Given the description of an element on the screen output the (x, y) to click on. 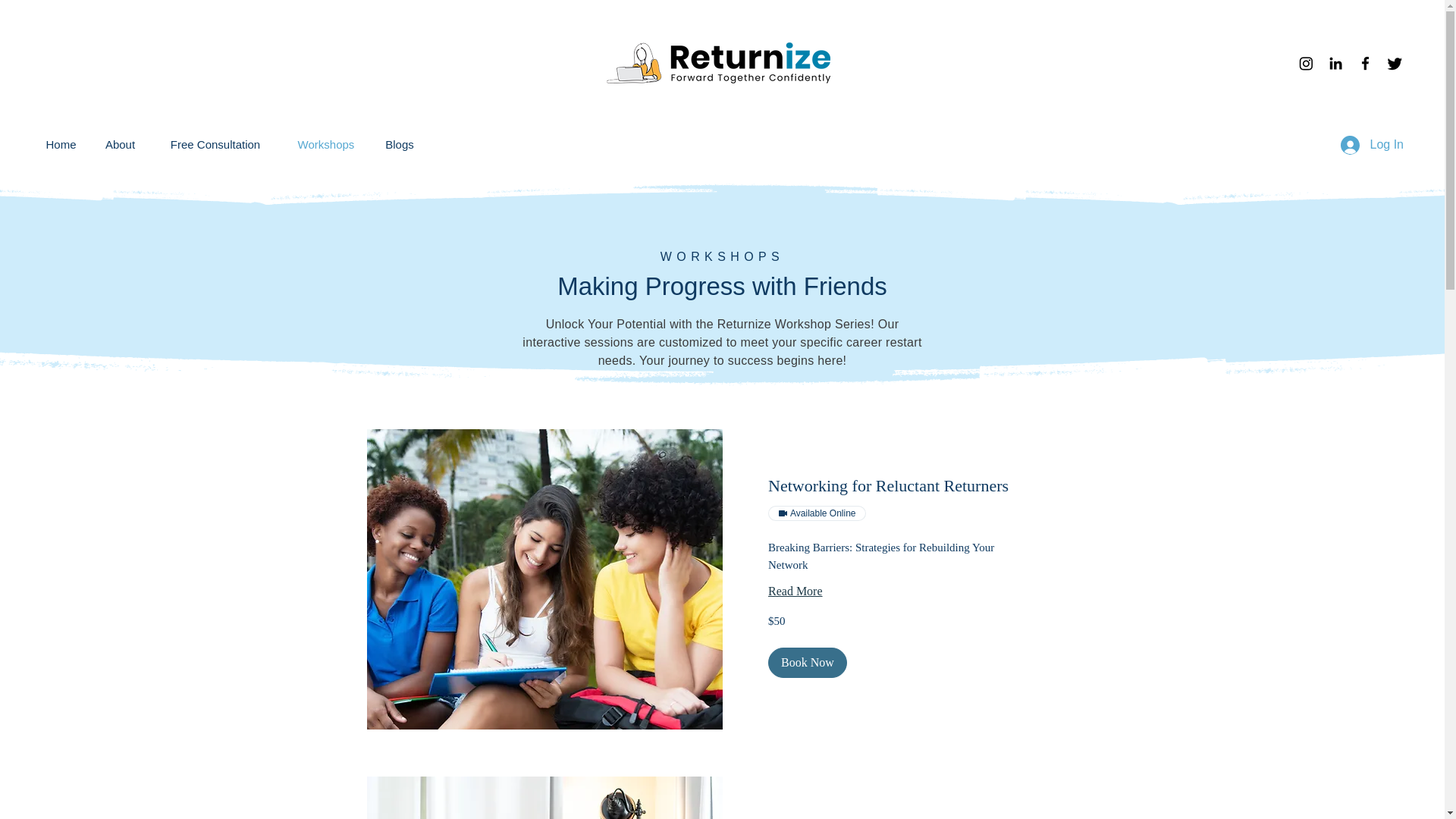
Networking for Reluctant Returners (899, 485)
Log In (1371, 144)
Read More (899, 591)
Free Consultation (215, 144)
Home (61, 144)
Blogs (399, 144)
About (119, 144)
Book Now (806, 662)
Career Restart Program for Women (717, 62)
Workshops (326, 144)
